Given the description of an element on the screen output the (x, y) to click on. 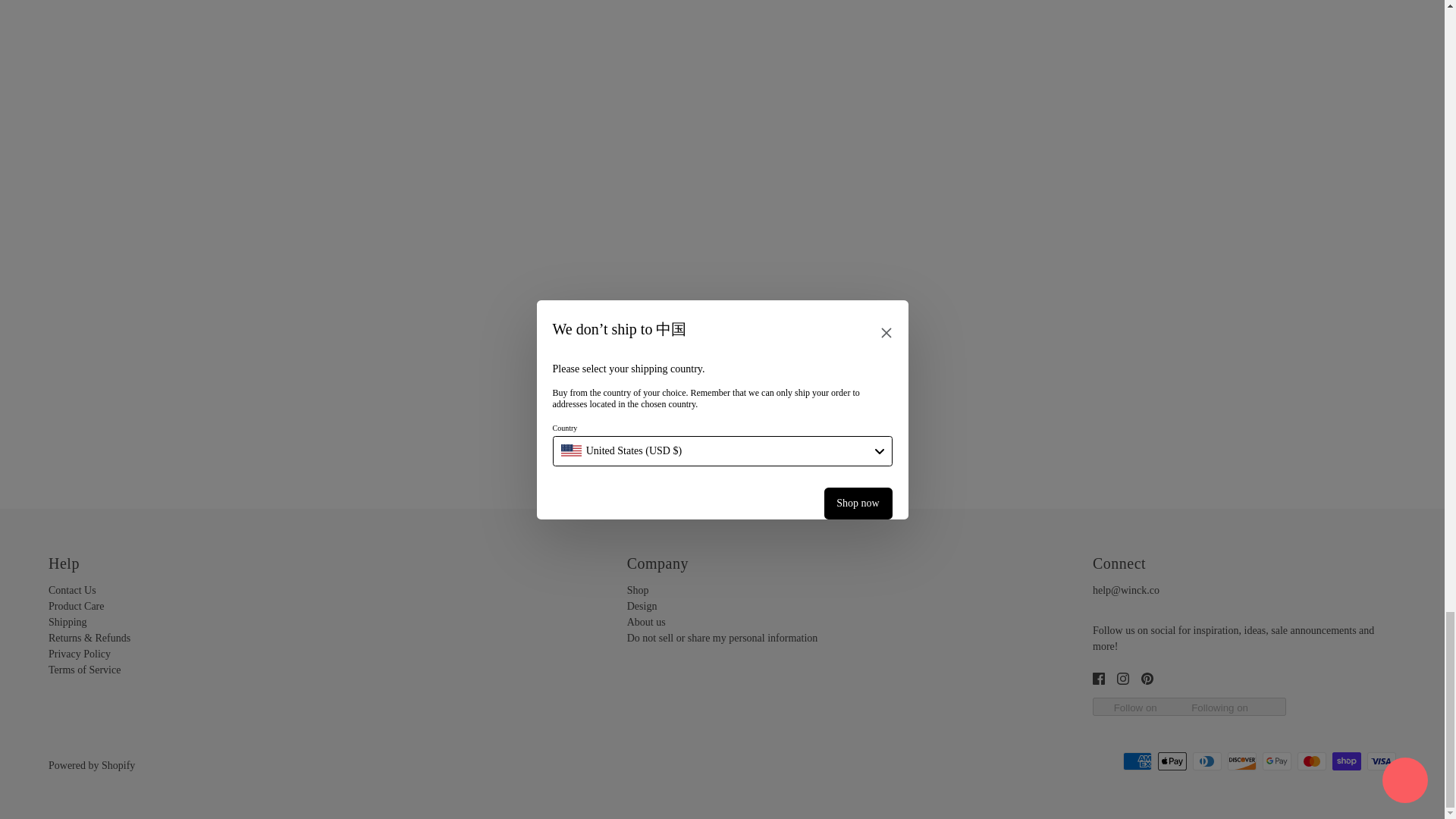
Contact Us (72, 590)
Do not sell or share my personal information (722, 637)
Do not sell or share my personal information (722, 637)
Privacy Policy (79, 654)
Shop (638, 590)
Privacy Policy (79, 654)
Shipping (67, 622)
Terms of Service (84, 669)
Contact Us (72, 590)
Product Care (75, 605)
